Given the description of an element on the screen output the (x, y) to click on. 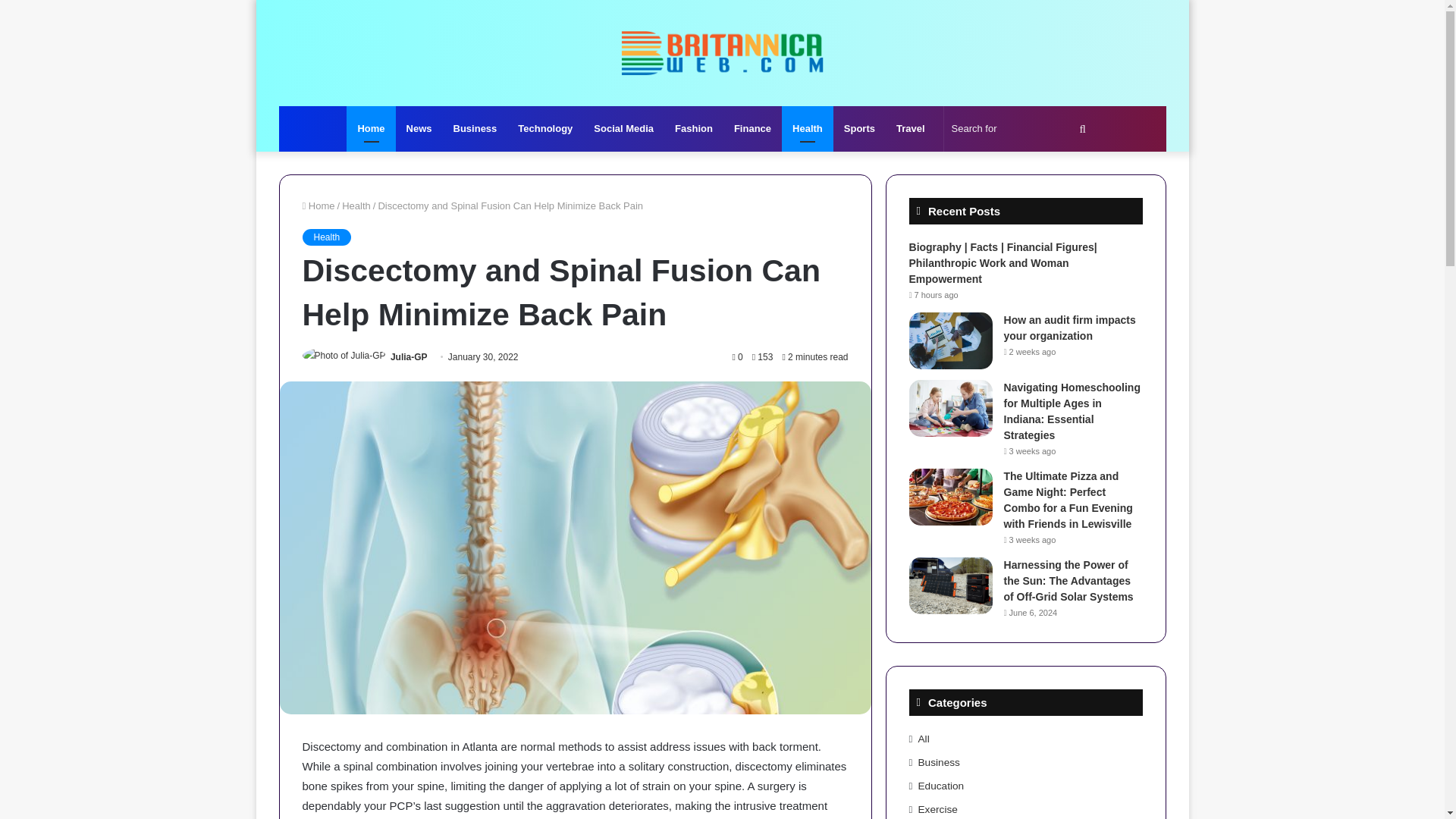
Fashion (693, 128)
Business (475, 128)
Finance (752, 128)
Julia-GP (409, 357)
Sports (858, 128)
Health (356, 205)
Health (325, 237)
Health (806, 128)
Home (317, 205)
Social Media (623, 128)
Travel (910, 128)
Julia-GP (409, 357)
Search for (1082, 128)
Home (370, 128)
Search for (1020, 128)
